Given the description of an element on the screen output the (x, y) to click on. 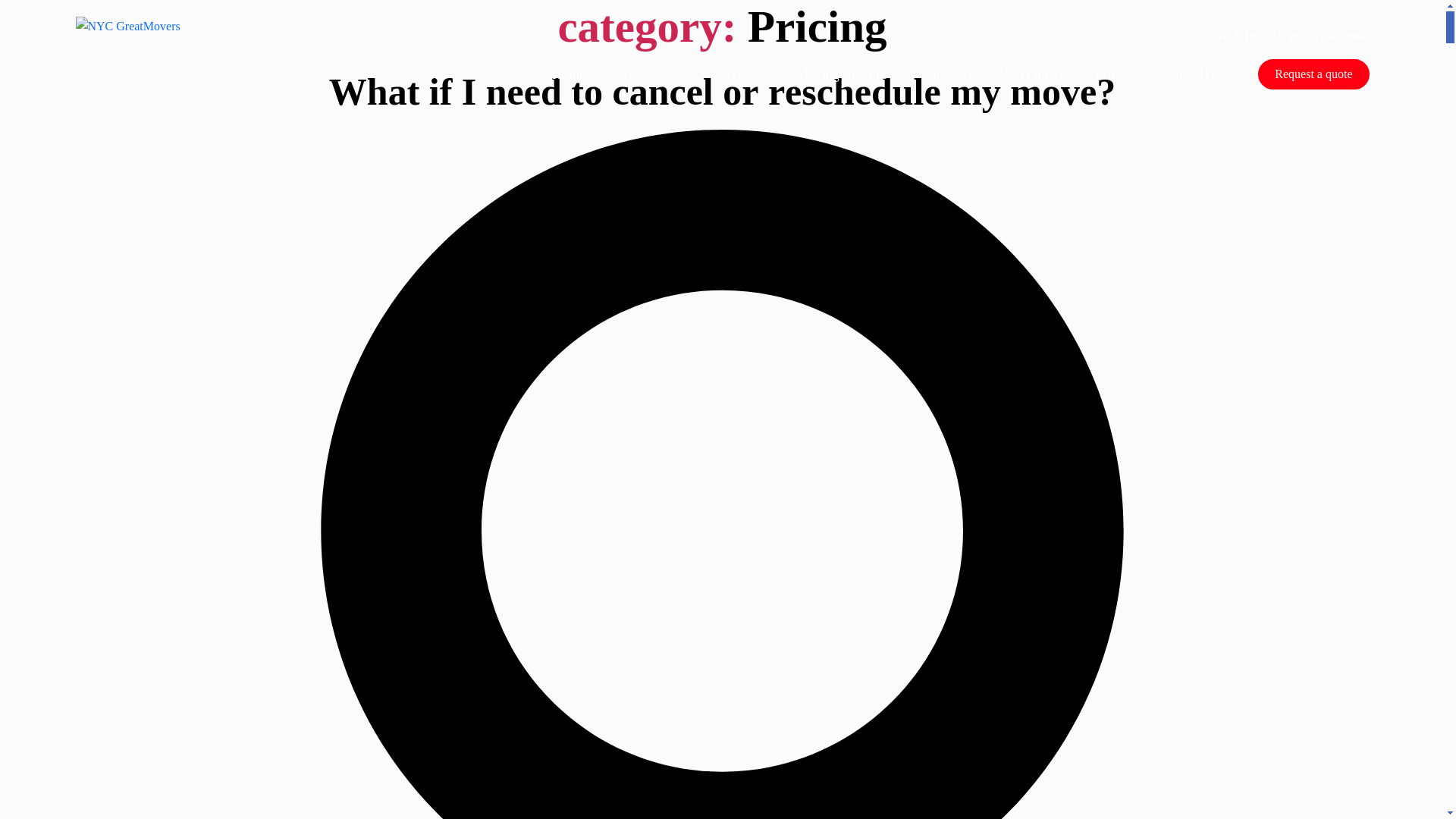
What if I need to cancel or reschedule my move? (722, 91)
New York (1006, 36)
Request a quote (1312, 73)
nycgreatmovers-logo (127, 26)
Home (568, 73)
Rent bins (1030, 73)
Services (735, 73)
Contact Us (1189, 73)
Connecticut (1155, 36)
Storage (945, 73)
